Given the description of an element on the screen output the (x, y) to click on. 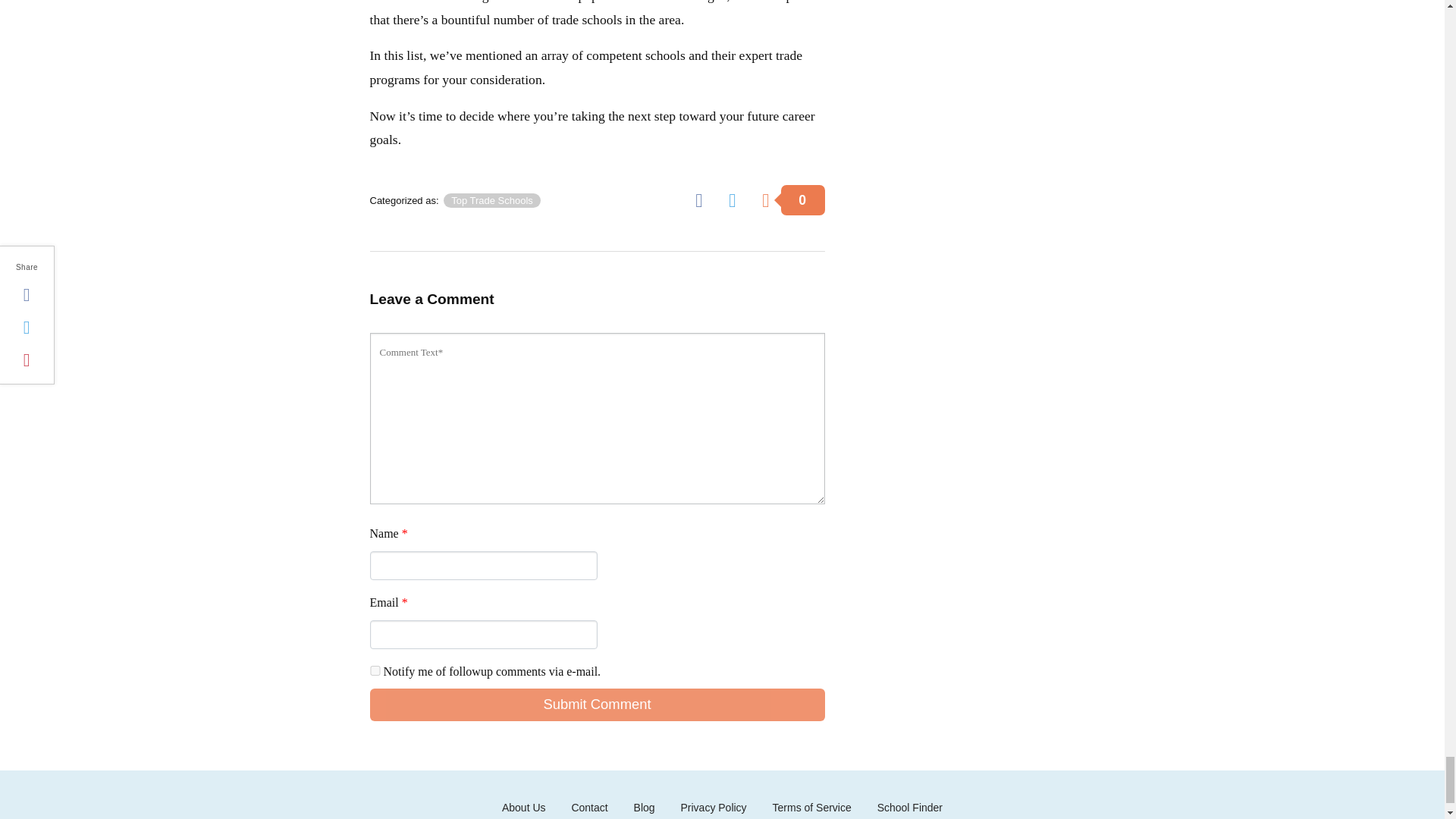
yes (374, 670)
Comment on This Post (792, 199)
Share on Facebook (704, 199)
Submit Comment (597, 704)
Share on Twitter (737, 199)
